Given the description of an element on the screen output the (x, y) to click on. 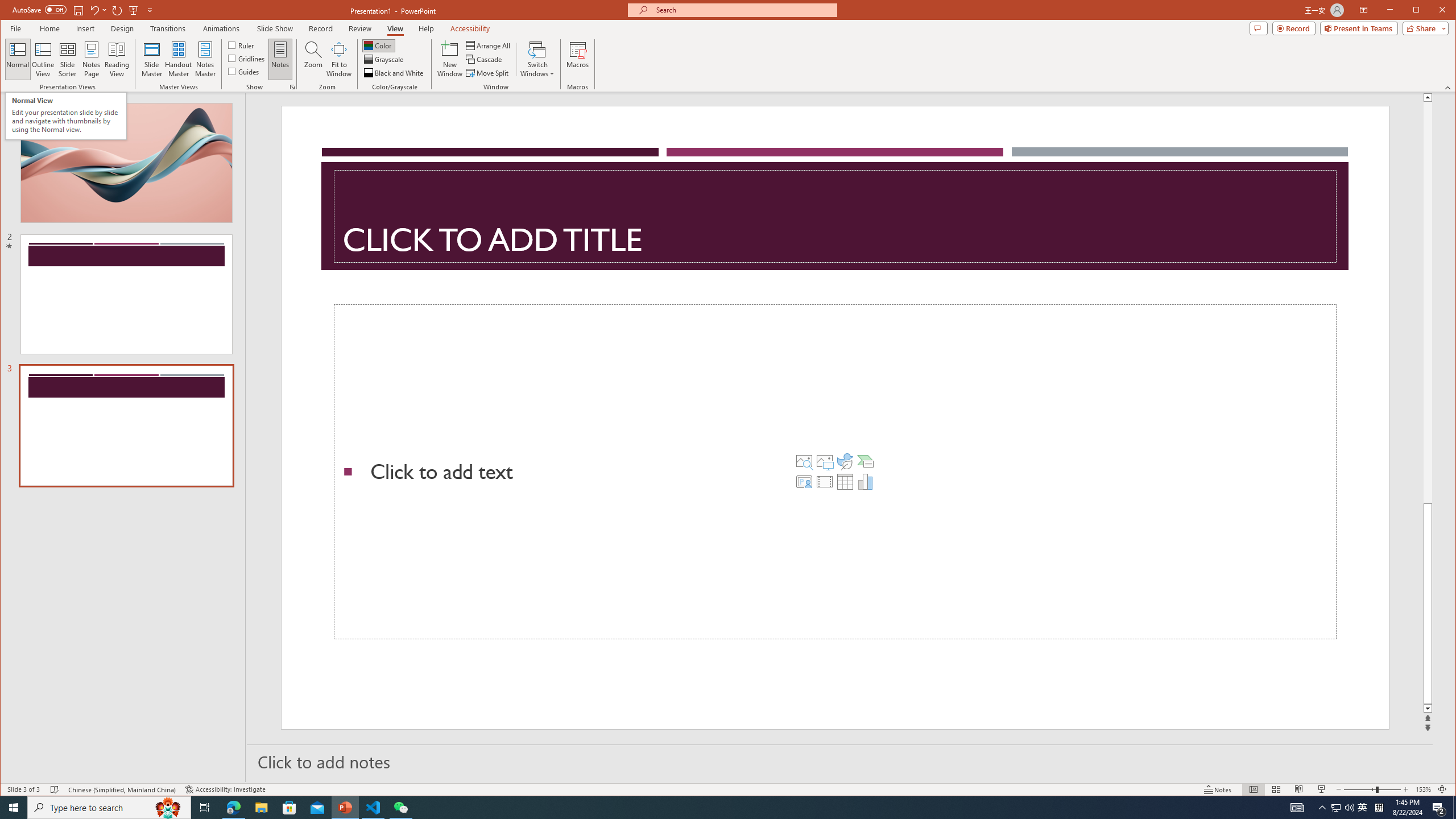
Notes Master (204, 59)
Outline View (42, 59)
